Given the description of an element on the screen output the (x, y) to click on. 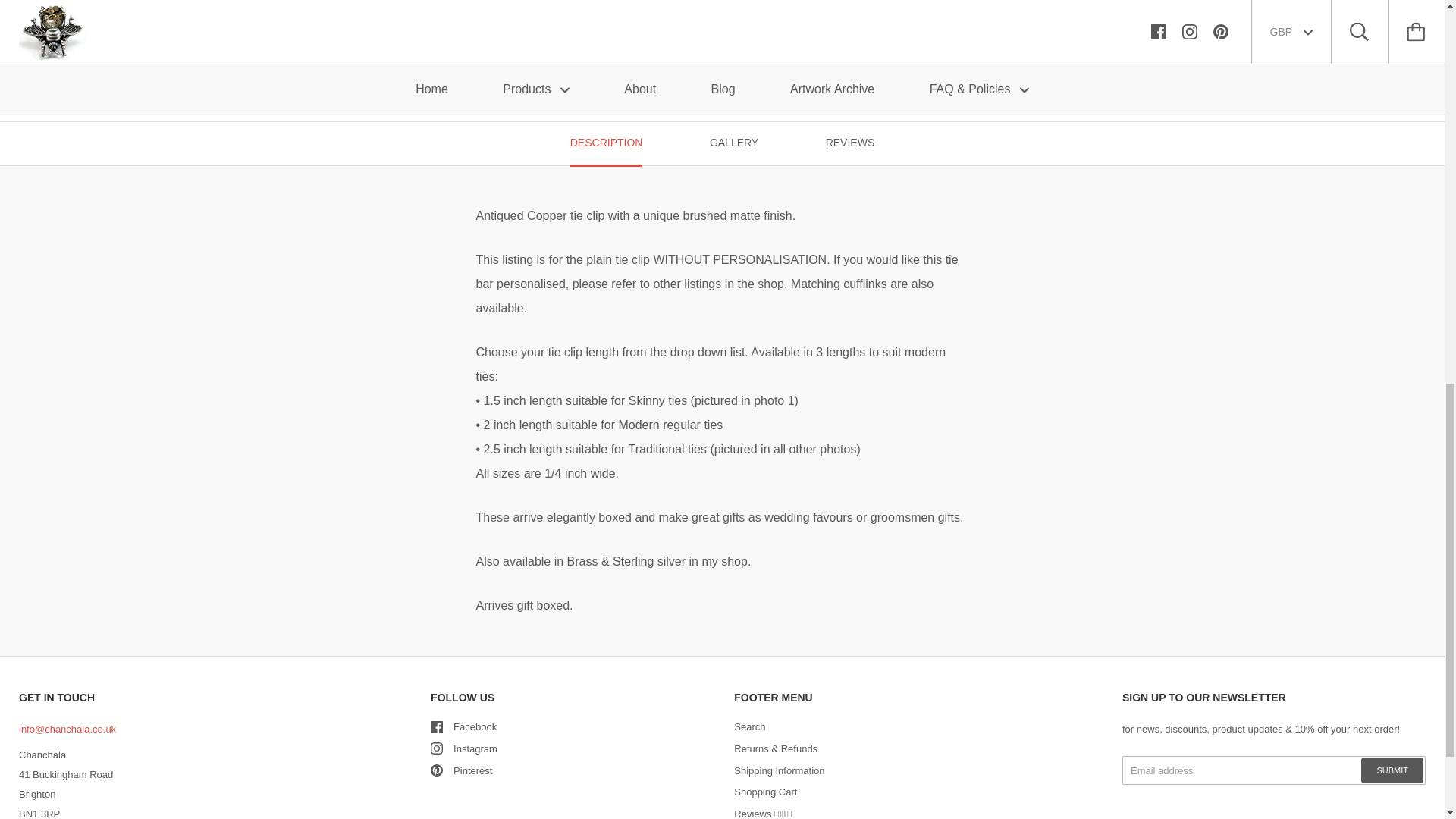
Facebook (436, 727)
Pinterest (436, 770)
Instagram (436, 748)
